Given the description of an element on the screen output the (x, y) to click on. 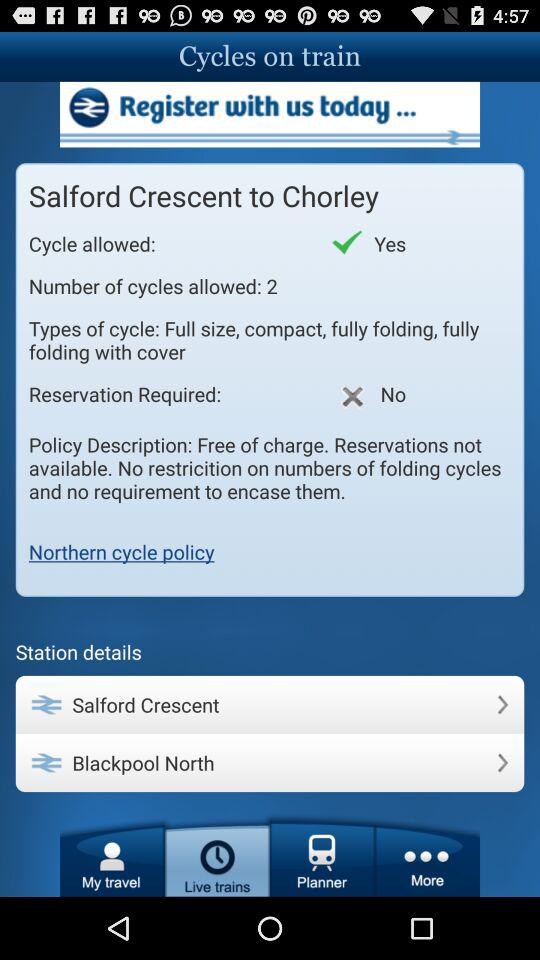
registration form link (270, 114)
